Given the description of an element on the screen output the (x, y) to click on. 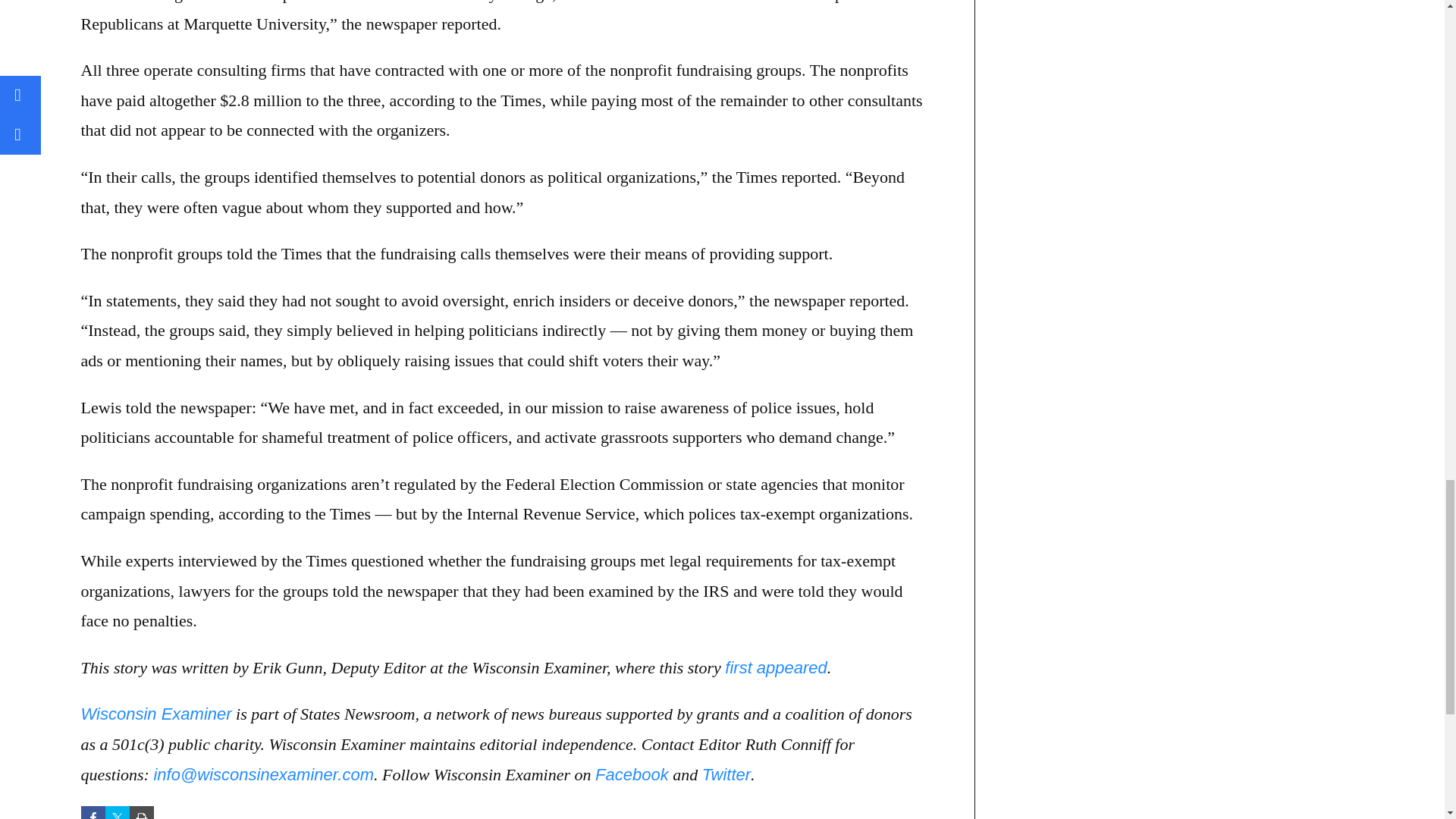
Facebook (631, 773)
Twitter (726, 773)
Share on Facebook (92, 812)
Print this Page (140, 812)
Wisconsin Examiner (155, 713)
first appeared (776, 667)
Share on Twitter (116, 812)
